Given the description of an element on the screen output the (x, y) to click on. 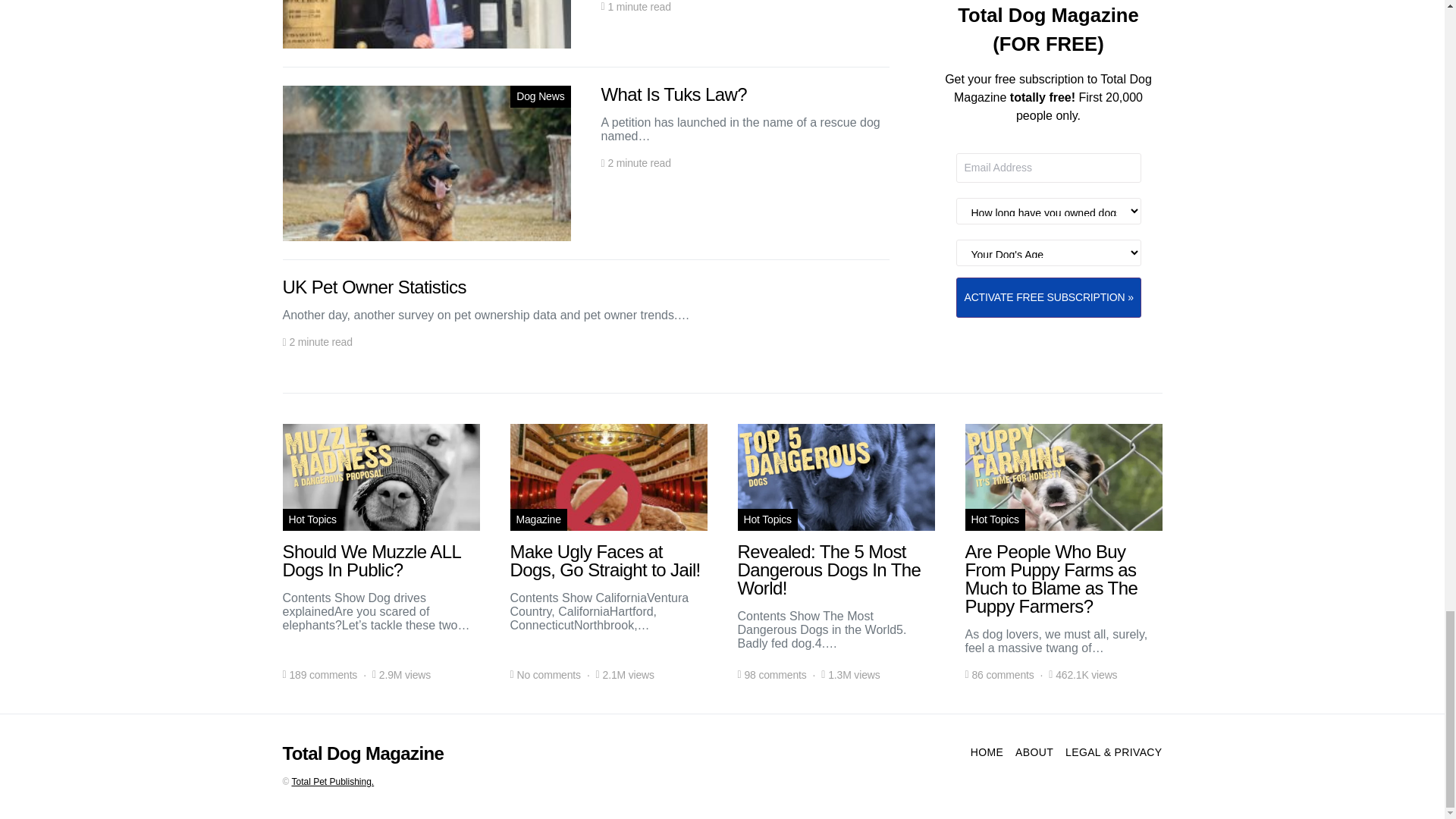
Dog News (540, 96)
Hot Topics (312, 519)
